Given the description of an element on the screen output the (x, y) to click on. 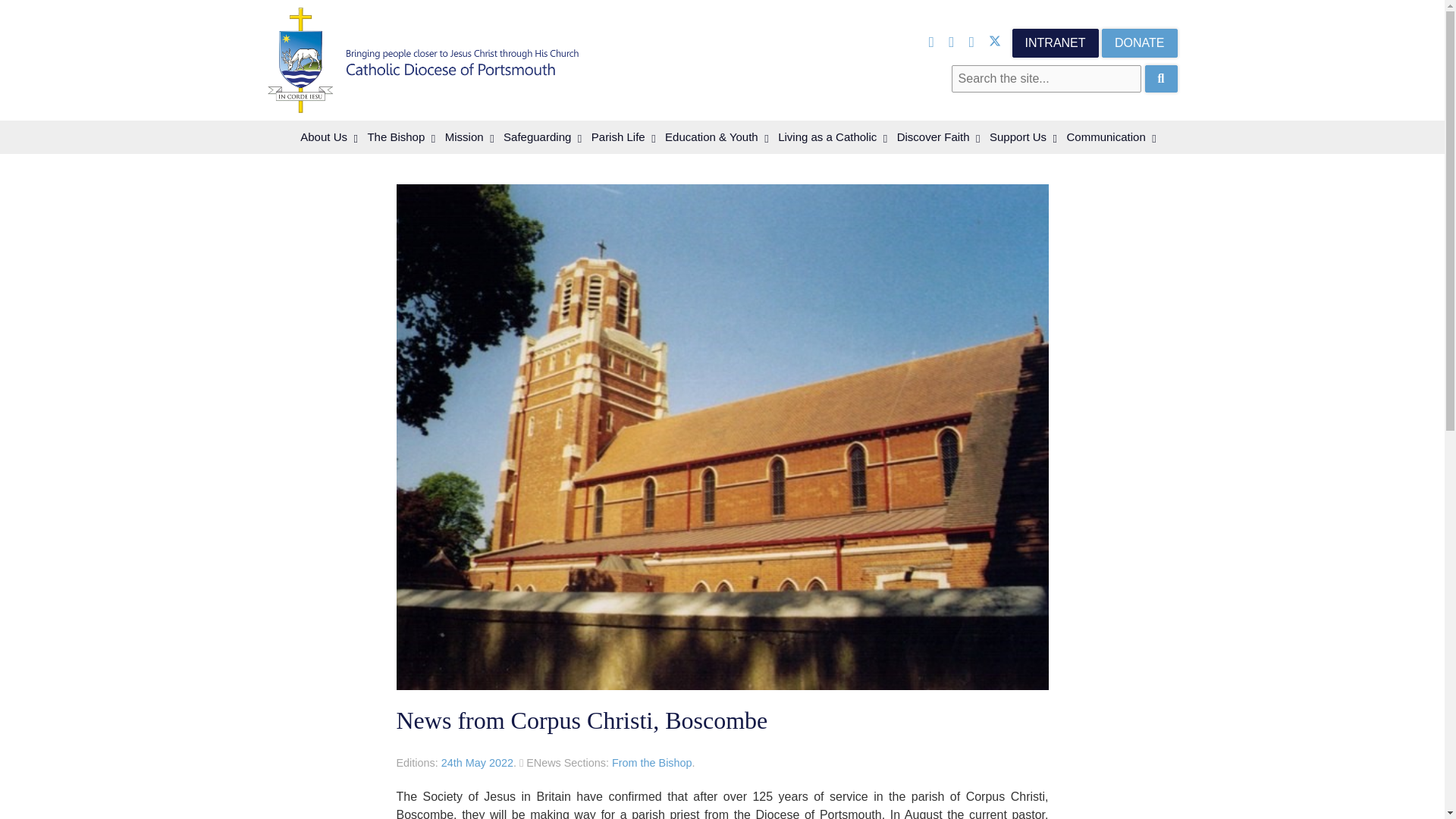
Search for: (1046, 78)
